Given the description of an element on the screen output the (x, y) to click on. 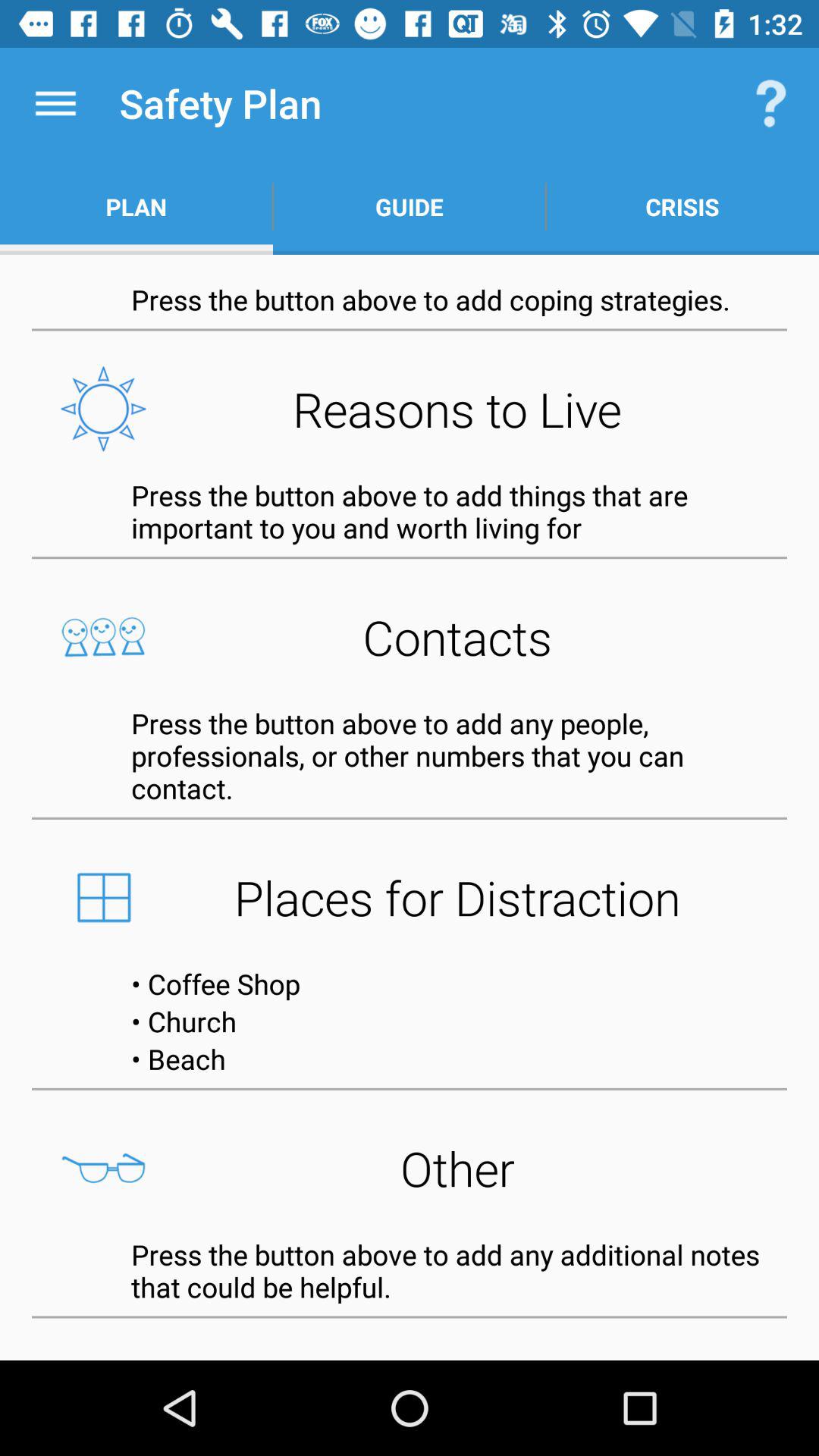
press the item next to crisis item (409, 206)
